Given the description of an element on the screen output the (x, y) to click on. 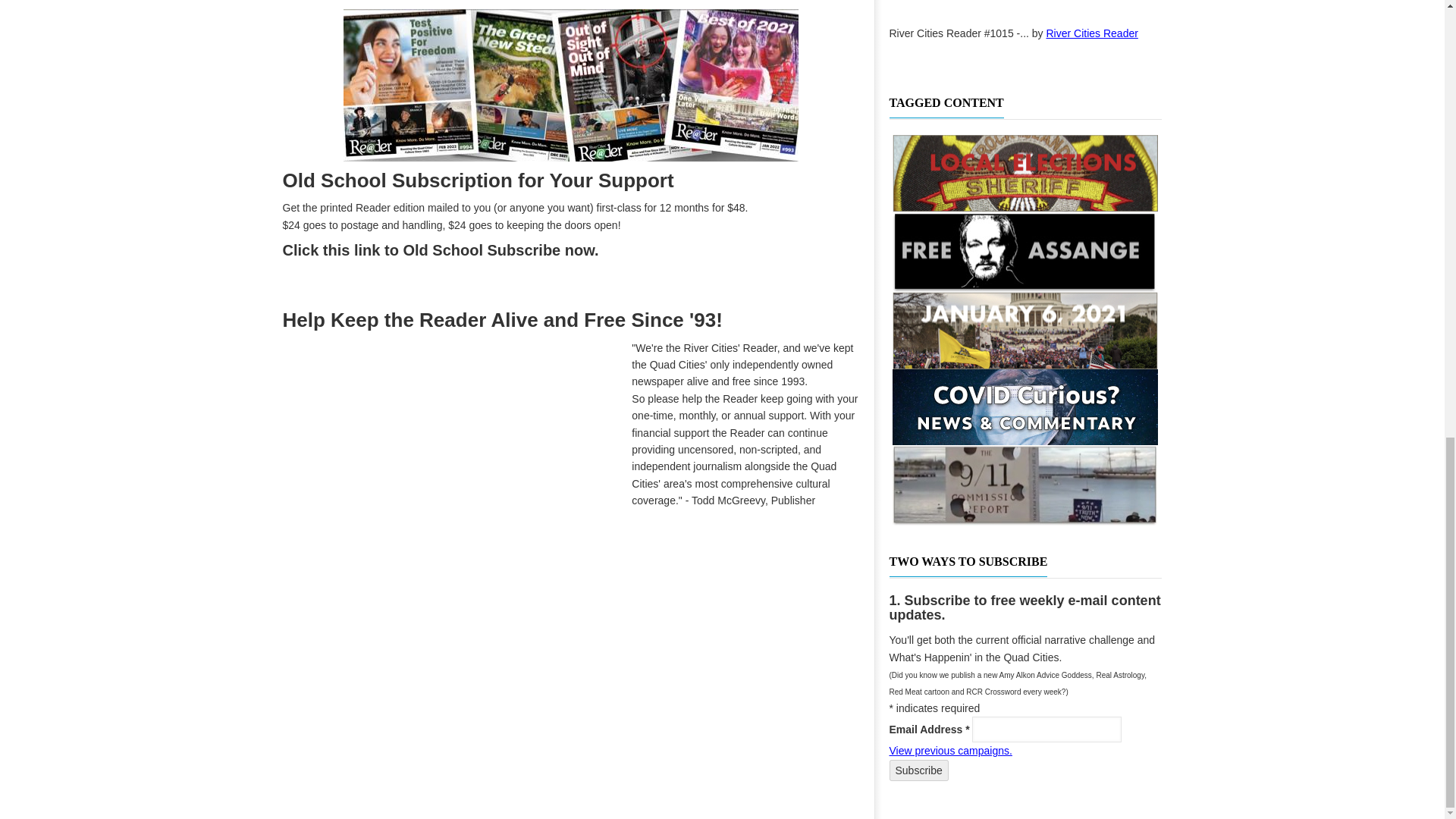
View previous campaigns (949, 750)
Subscribe (917, 770)
View River Cities Reader's profile on Scribd (1092, 33)
